Given the description of an element on the screen output the (x, y) to click on. 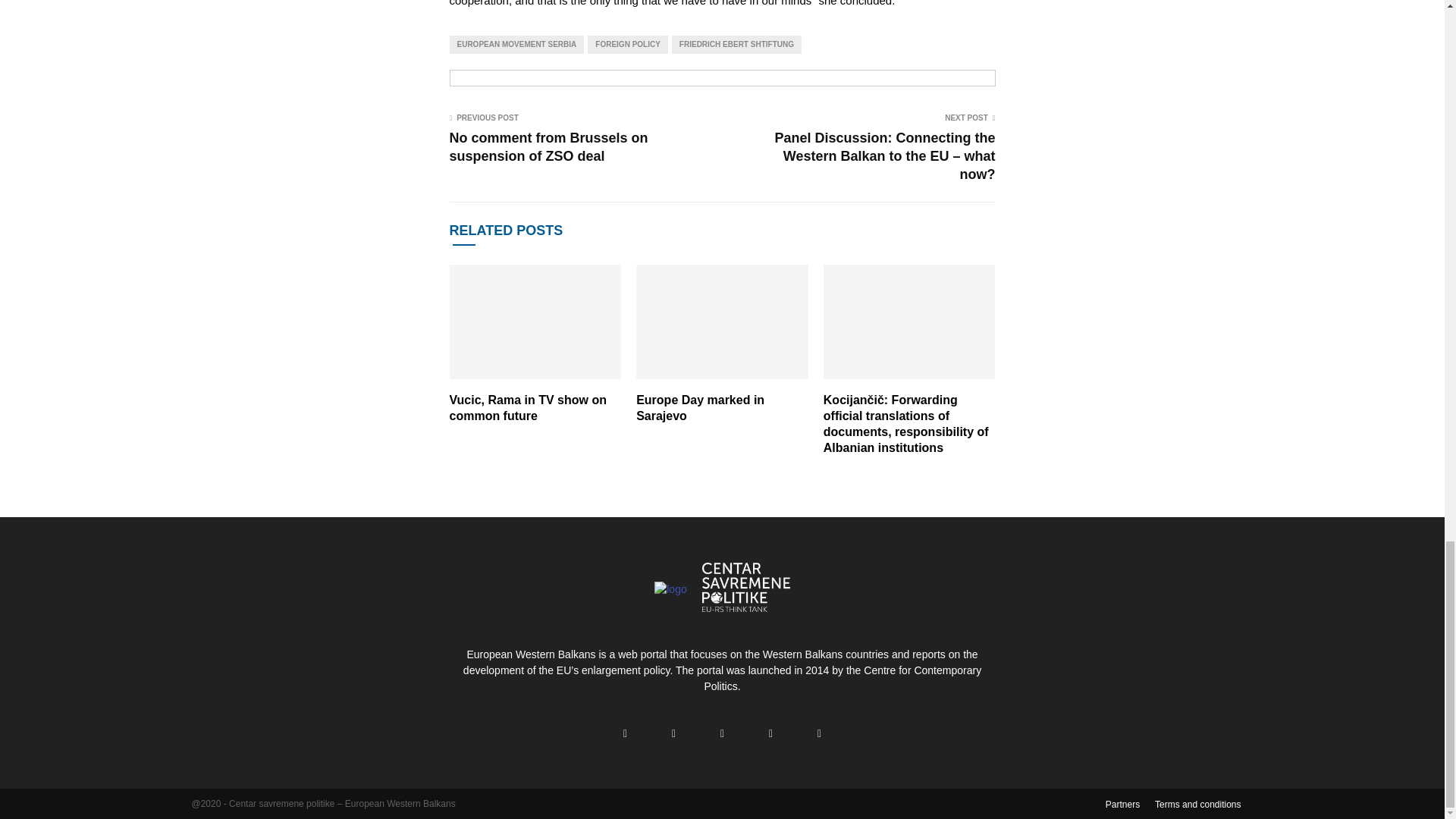
EUROPEAN MOVEMENT SERBIA (515, 45)
Vucic, Rama in TV show on common future (526, 407)
Europe Day marked in Sarajevo (700, 407)
FOREIGN POLICY (628, 45)
No comment from Brussels on suspension of ZSO deal (547, 146)
FRIEDRICH EBERT SHTIFTUNG (736, 45)
